Given the description of an element on the screen output the (x, y) to click on. 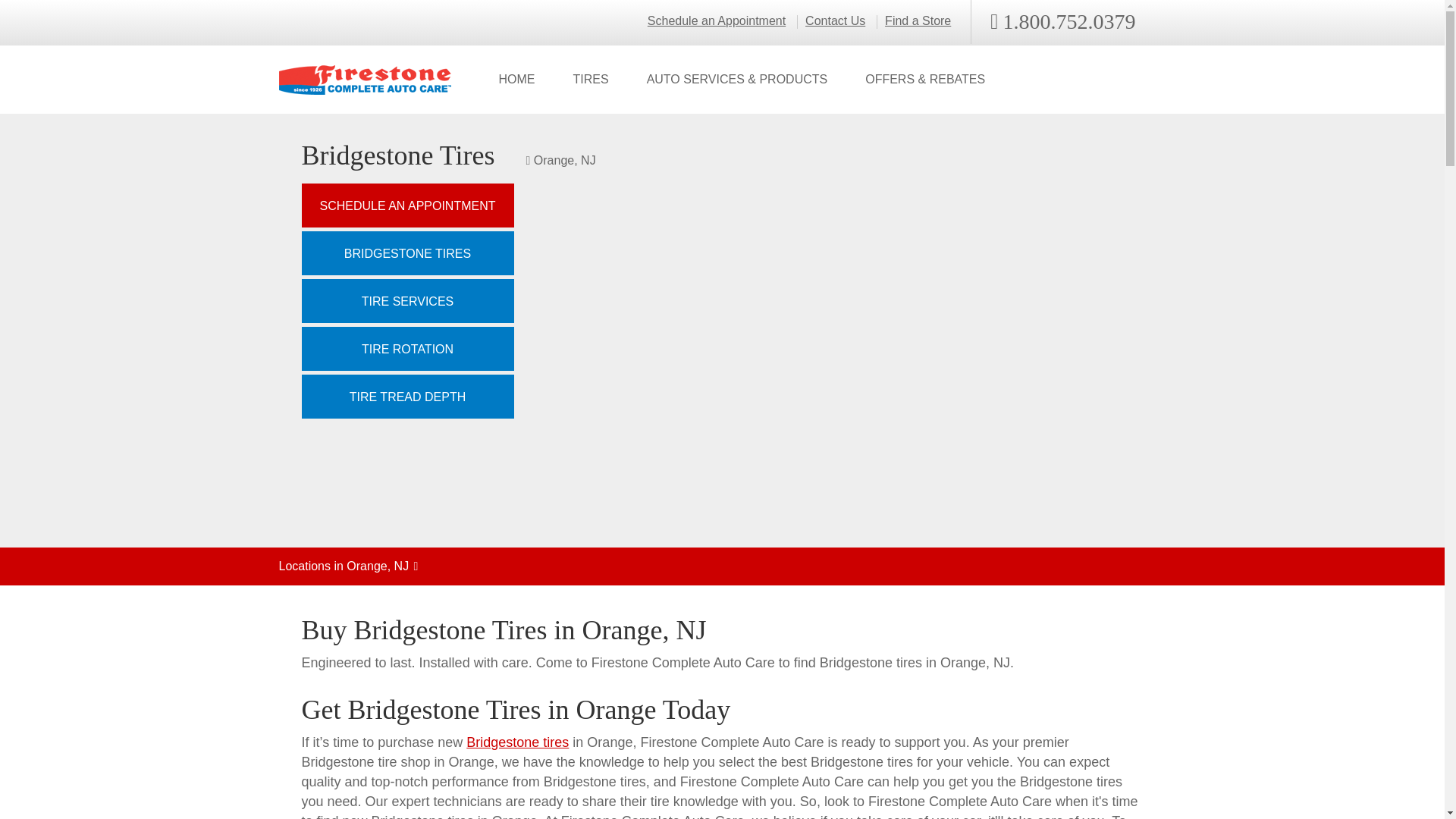
TIRE SERVICES (407, 300)
TIRE ROTATION (407, 348)
Locations in Orange, NJ (722, 566)
Schedule an Appointment (716, 20)
TIRE TREAD DEPTH (407, 396)
HOME (516, 79)
BRIDGESTONE TIRES (407, 252)
TIRES (590, 79)
1.800.752.0379 (1062, 22)
Firestone Complete Auto Care (365, 80)
Contact Us (834, 20)
Find a Store (918, 20)
SCHEDULE AN APPOINTMENT (407, 205)
